Given the description of an element on the screen output the (x, y) to click on. 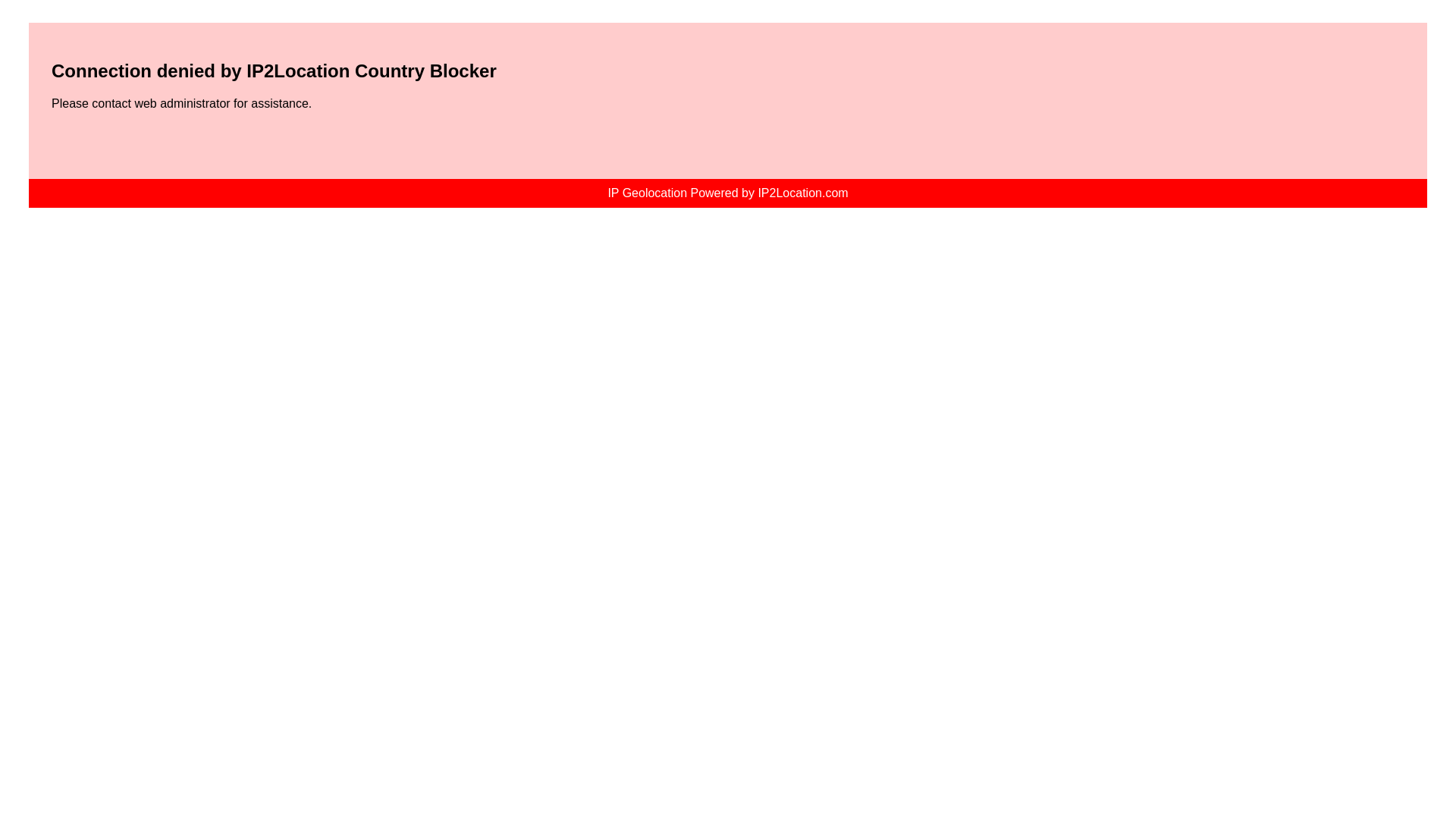
IP Geolocation Powered by IP2Location.com Element type: text (727, 192)
